Given the description of an element on the screen output the (x, y) to click on. 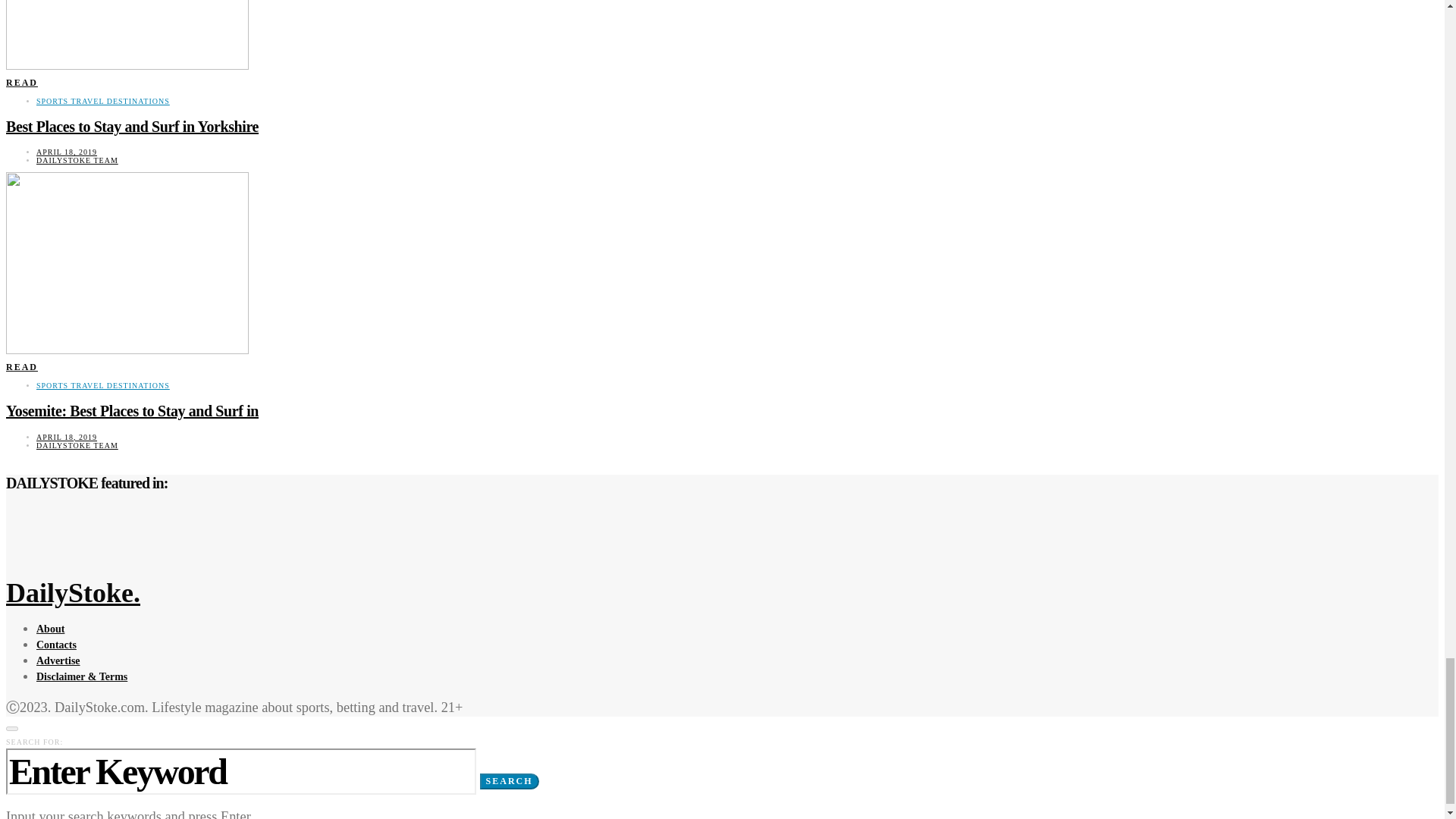
View all posts by DailyStoke Team (76, 160)
View all posts by DailyStoke Team (76, 445)
